Given the description of an element on the screen output the (x, y) to click on. 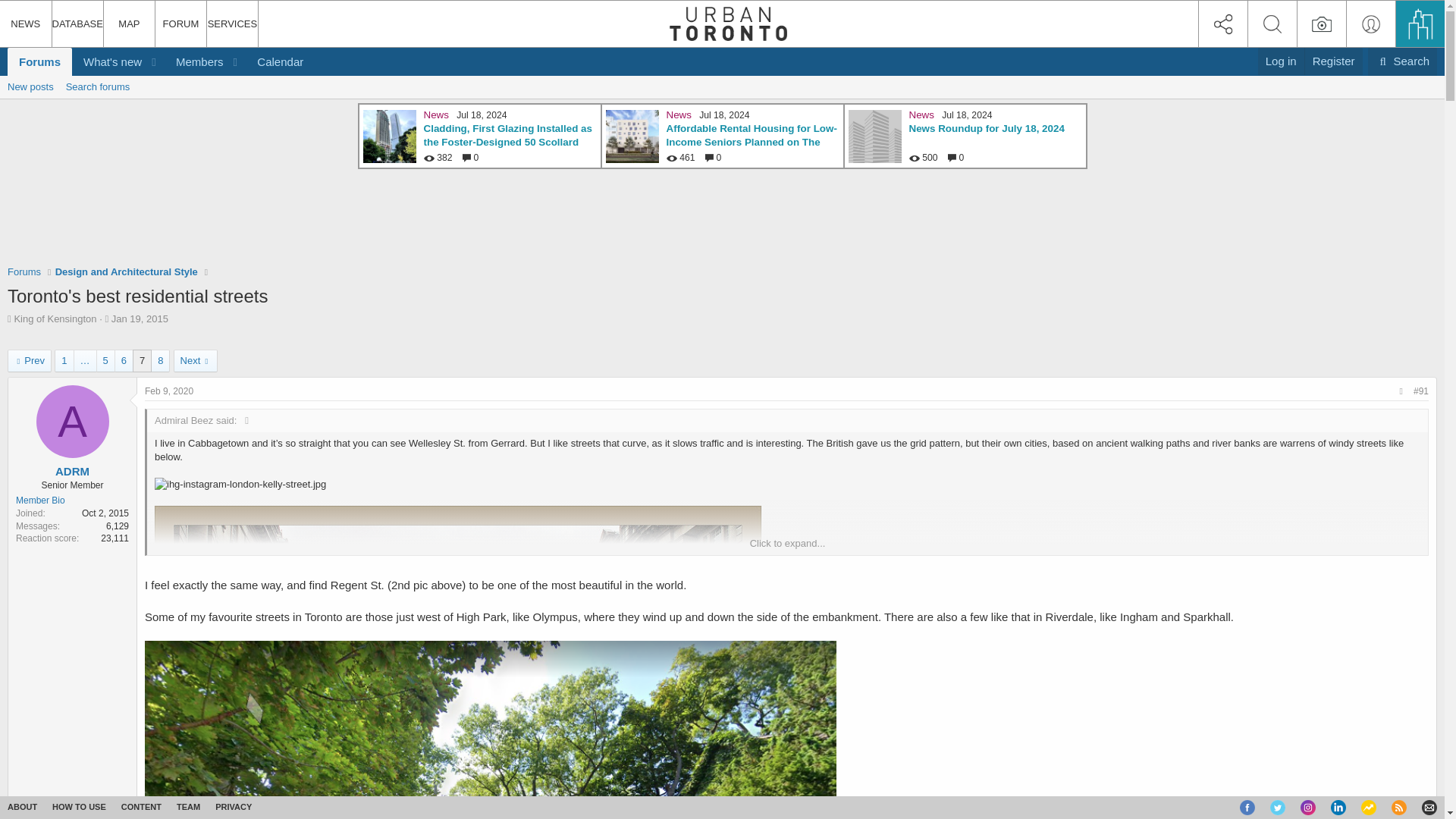
King of Kensington (160, 78)
ihg-instagram-london-kelly-street.jpg (54, 318)
Search forums (240, 484)
Log in (97, 87)
Jan 19, 2015 at 9:17 PM (1280, 60)
Screen Shot 2020-02-09 at 11.02.58 AM.png (140, 318)
Feb 9, 2020 at 11:03 AM (489, 729)
Design and Architectural Style (168, 390)
Search (126, 272)
Search (721, 104)
